Given the description of an element on the screen output the (x, y) to click on. 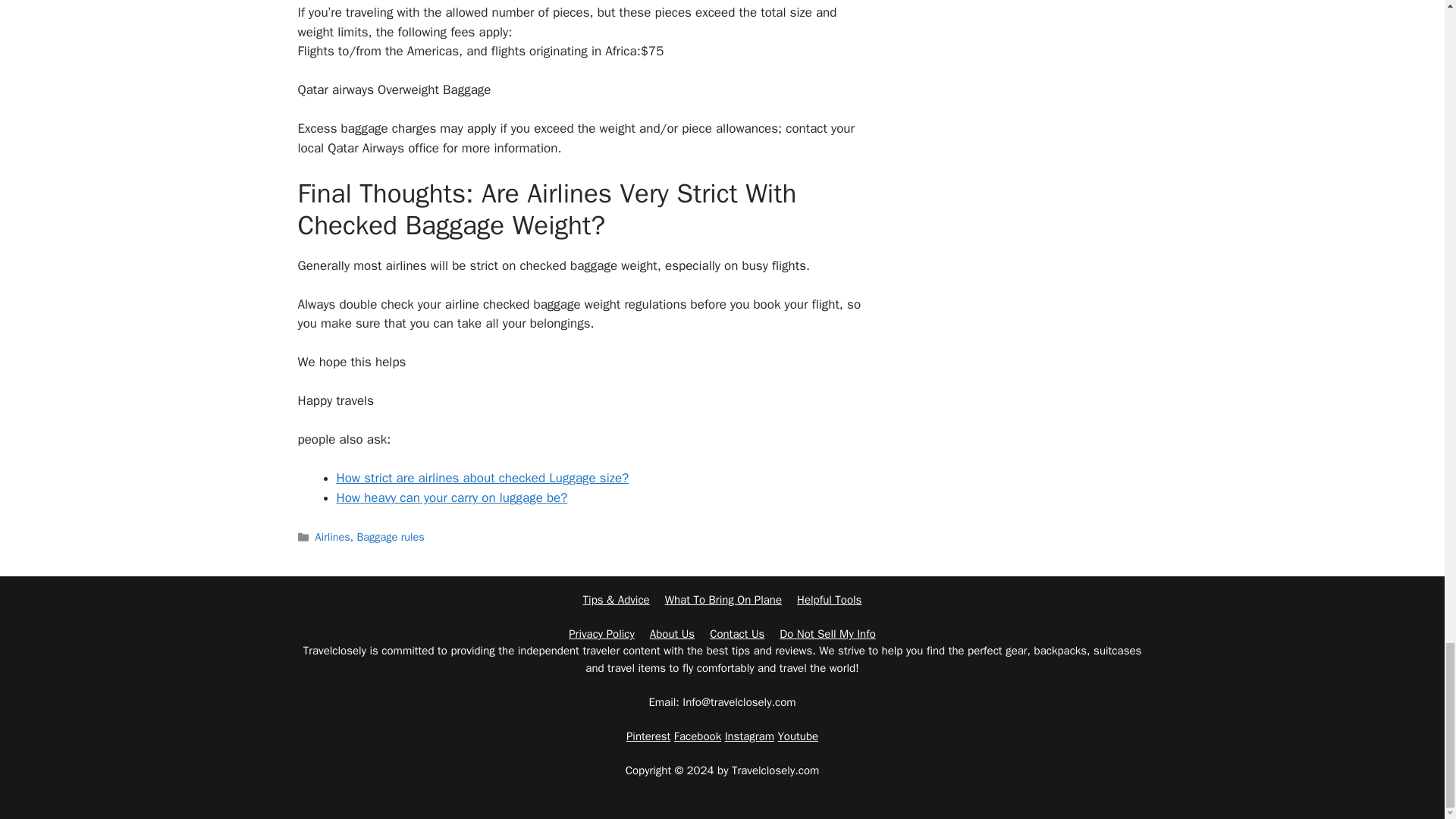
Airlines (332, 536)
Baggage rules (389, 536)
How heavy can your carry on luggage be? (451, 497)
How strict are airlines about checked Luggage size? (482, 478)
